Given the description of an element on the screen output the (x, y) to click on. 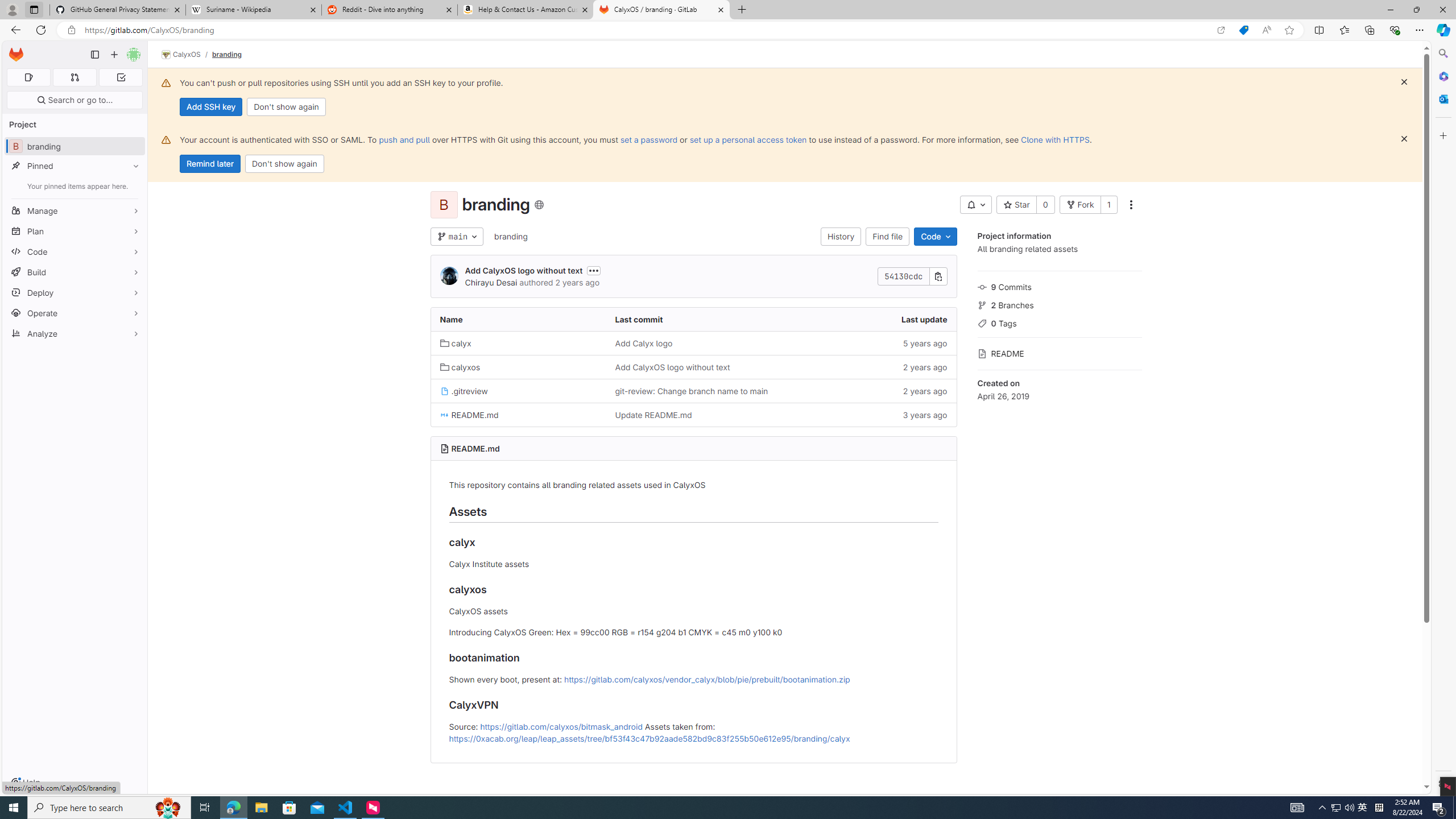
To-Do list 0 (120, 76)
Plan (74, 230)
set a password (649, 139)
git-review: Change branch name to main (693, 390)
Remind later (210, 163)
Suriname - Wikipedia (253, 9)
Add SSH key (211, 106)
AutomationID: __BVID__301__BV_toggle_ (975, 204)
